Given the description of an element on the screen output the (x, y) to click on. 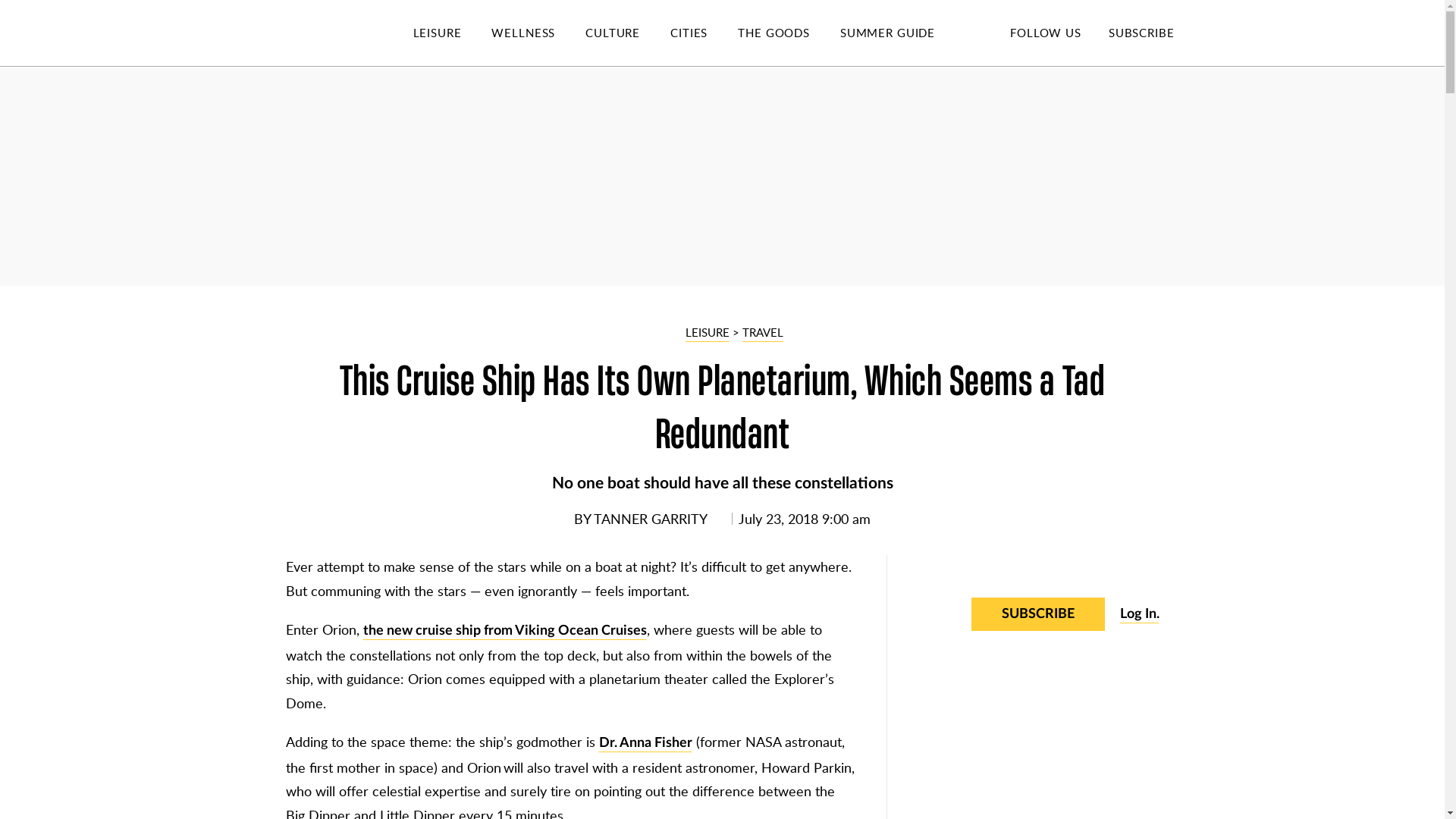
WELLNESS (538, 32)
LEISURE (452, 32)
CULTURE (627, 32)
THE GOODS (789, 32)
SUBSCRIBE (1141, 31)
SUMMER GUIDE (902, 32)
FOLLOW US (1045, 32)
CITIES (703, 32)
